Given the description of an element on the screen output the (x, y) to click on. 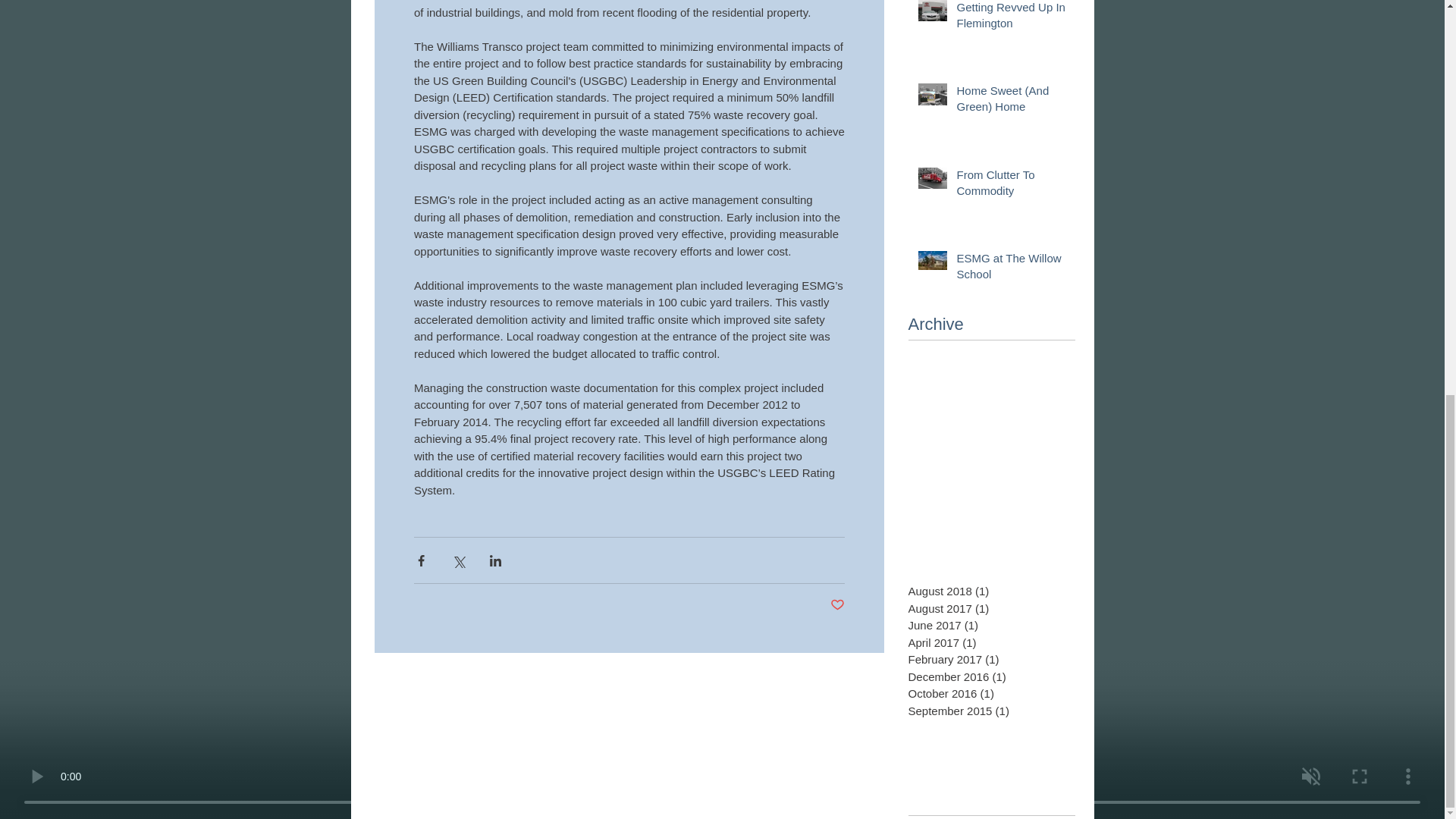
From Clutter To Commodity (1010, 185)
ESMG at The Willow School (1010, 269)
Getting Revved Up In Flemington (1010, 18)
Post not marked as liked (836, 605)
